Given the description of an element on the screen output the (x, y) to click on. 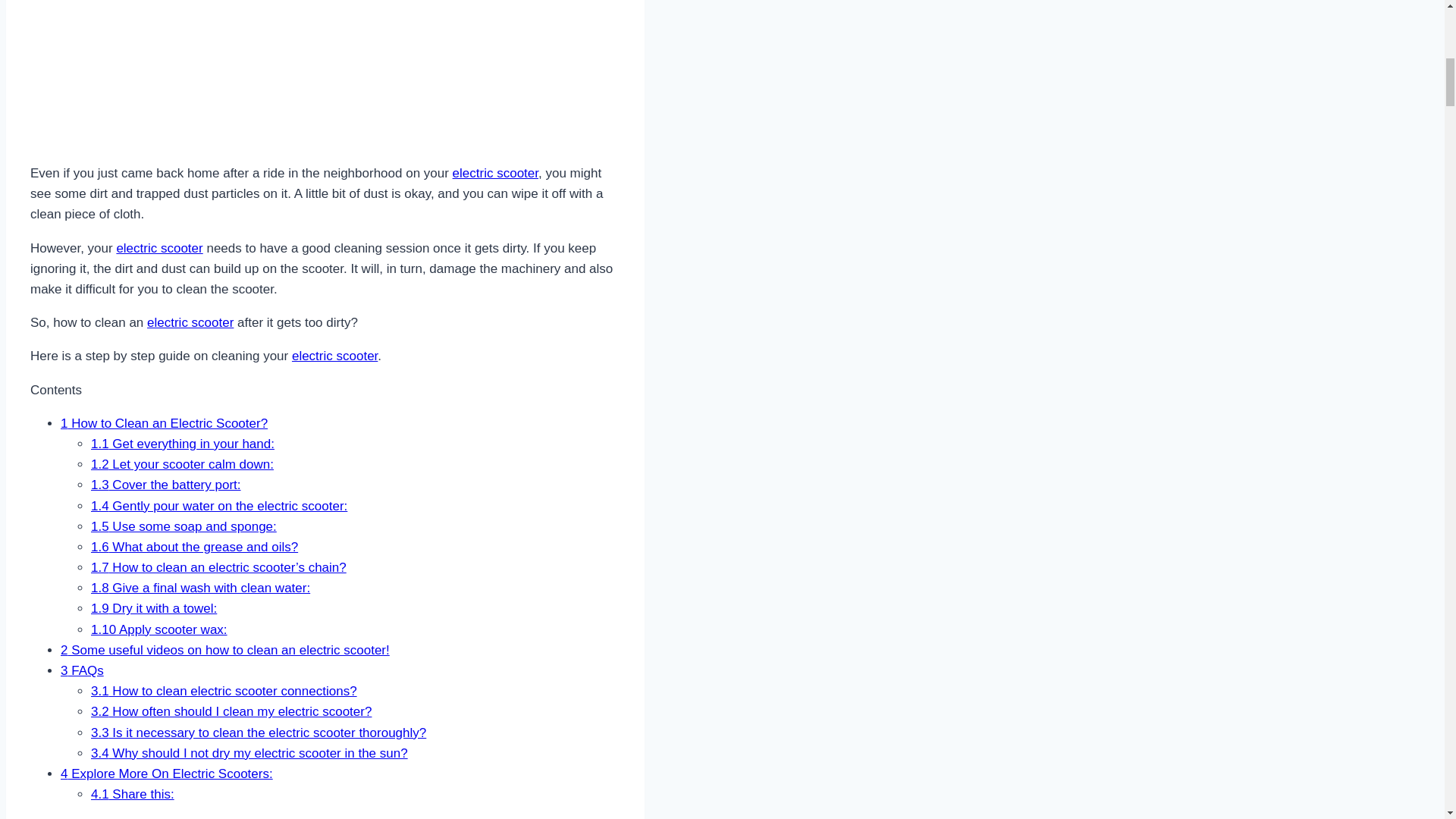
1.3 Cover the battery port: (165, 484)
3.2 How often should I clean my electric scooter? (230, 711)
electric scooter (495, 173)
1.9 Dry it with a towel: (153, 608)
electric scooter (334, 355)
1.6 What about the grease and oils? (194, 546)
1.10 Apply scooter wax: (158, 629)
3.1 How to clean electric scooter connections? (223, 690)
4 Explore More On Electric Scooters: (167, 773)
electric scooter (159, 247)
1.2 Let your scooter calm down: (181, 464)
1 How to Clean an Electric Scooter? (164, 423)
4.1 Share this: (132, 794)
1.1 Get everything in your hand: (182, 443)
